Given the description of an element on the screen output the (x, y) to click on. 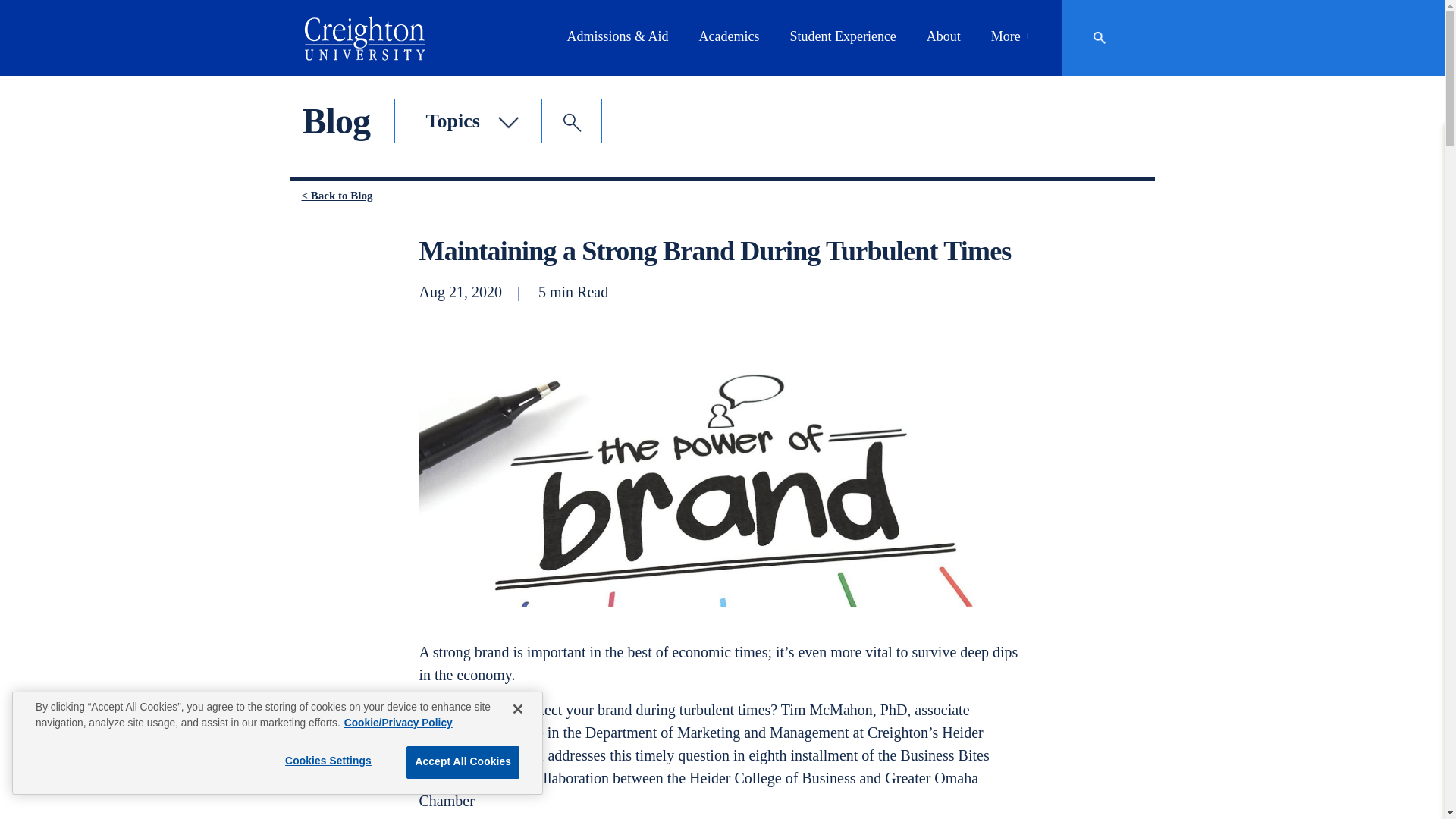
About (943, 36)
Student Experience (842, 36)
search the news (572, 122)
Search Creighton.edu (1105, 36)
Academics (728, 36)
